Given the description of an element on the screen output the (x, y) to click on. 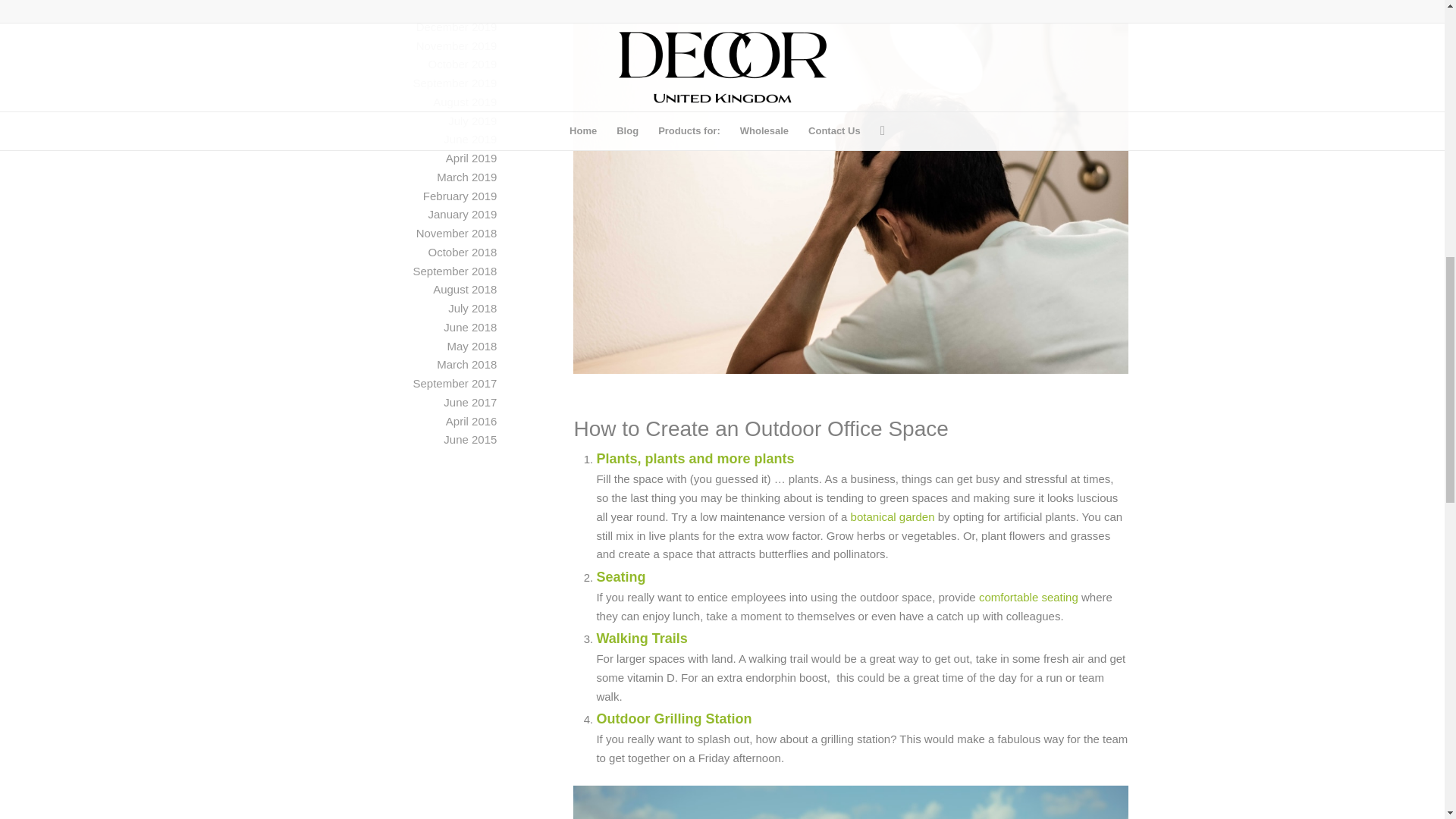
comfortable seating (1029, 596)
botanical garden (893, 516)
